Given the description of an element on the screen output the (x, y) to click on. 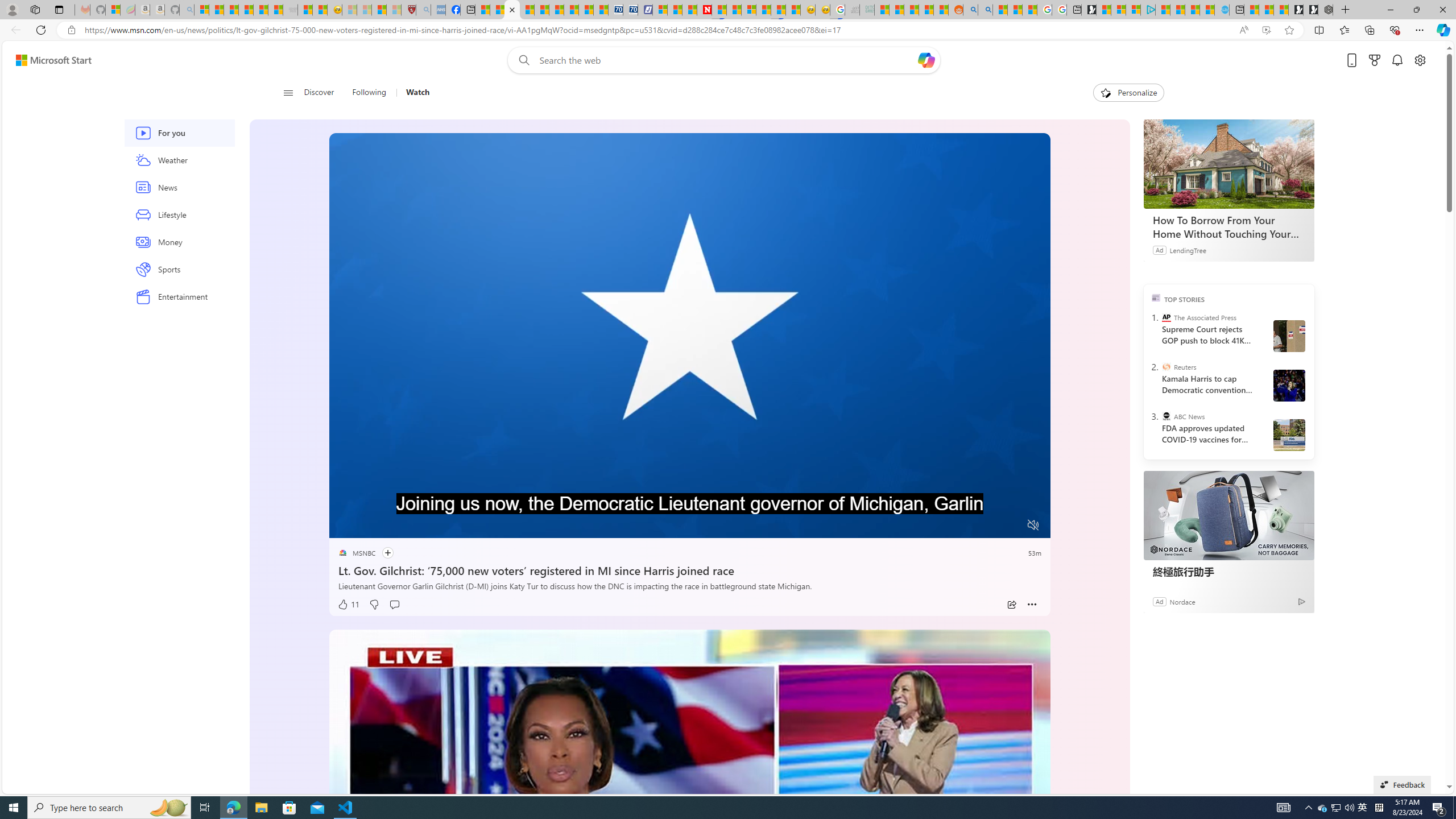
New Report Confirms 2023 Was Record Hot | Watch (260, 9)
